Given the description of an element on the screen output the (x, y) to click on. 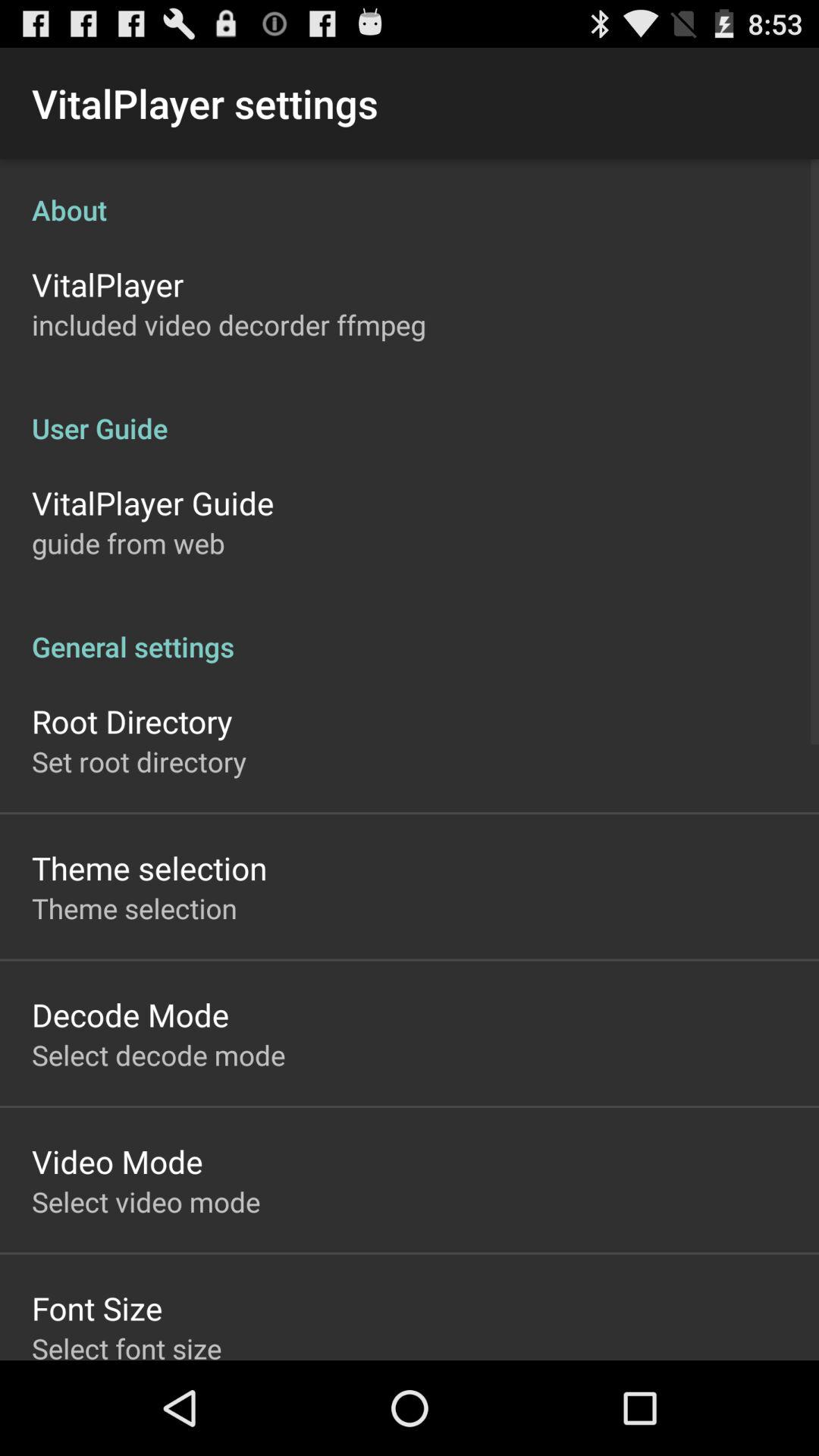
select the item above user guide item (228, 324)
